Given the description of an element on the screen output the (x, y) to click on. 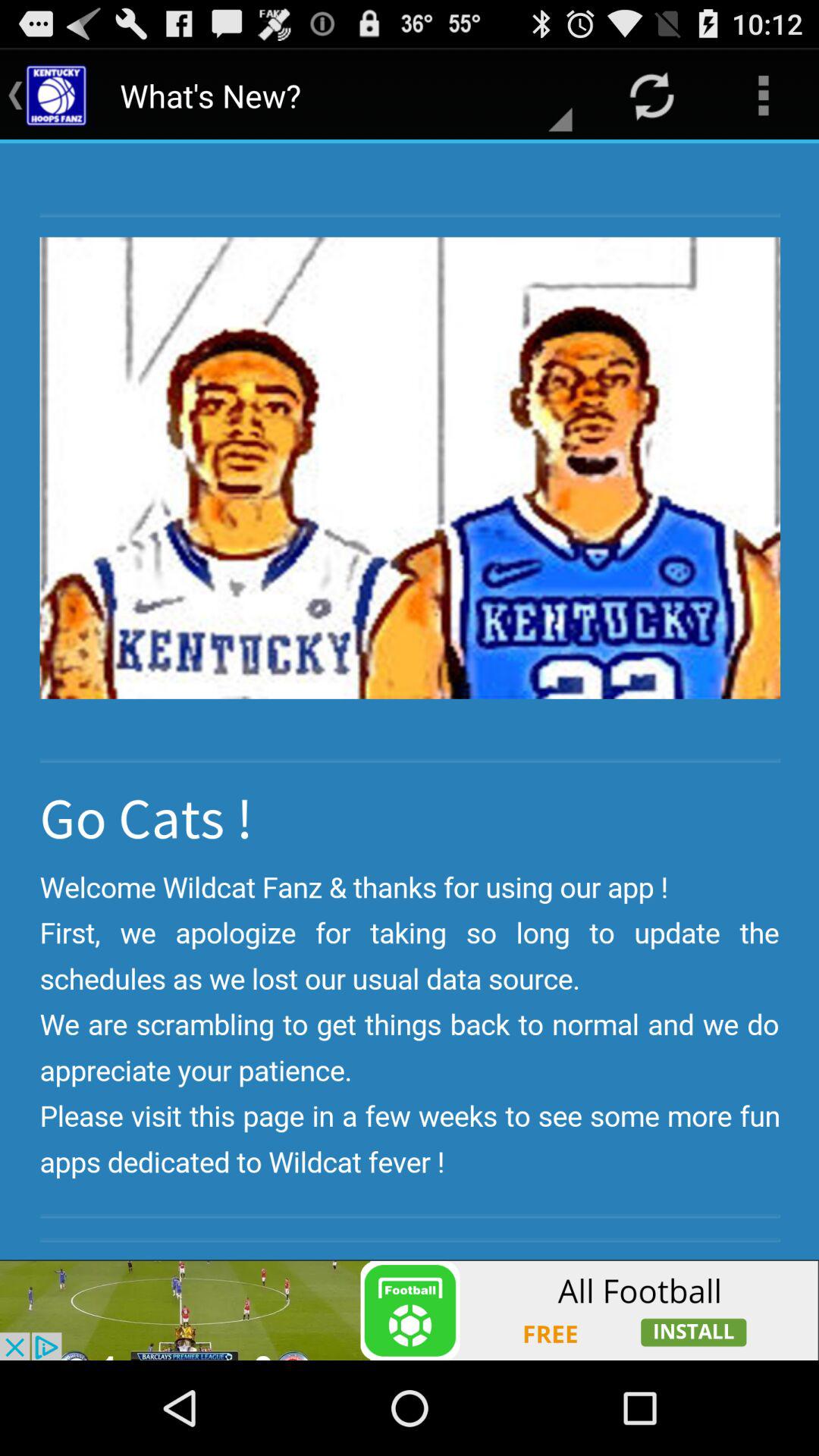
go to advertisement (409, 1310)
